Given the description of an element on the screen output the (x, y) to click on. 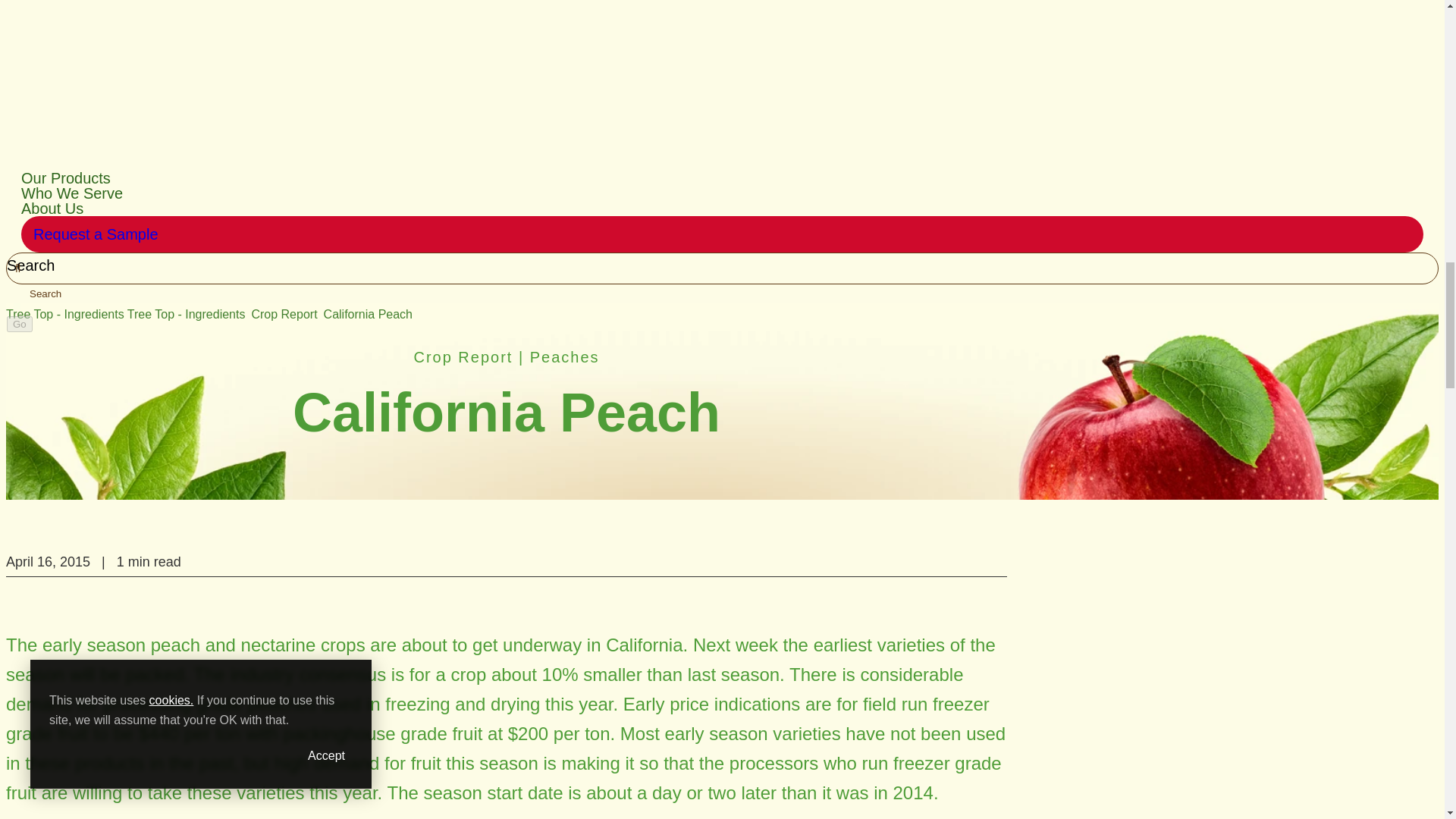
Our Products (65, 177)
Who We Serve (71, 192)
About Us (51, 208)
